Given the description of an element on the screen output the (x, y) to click on. 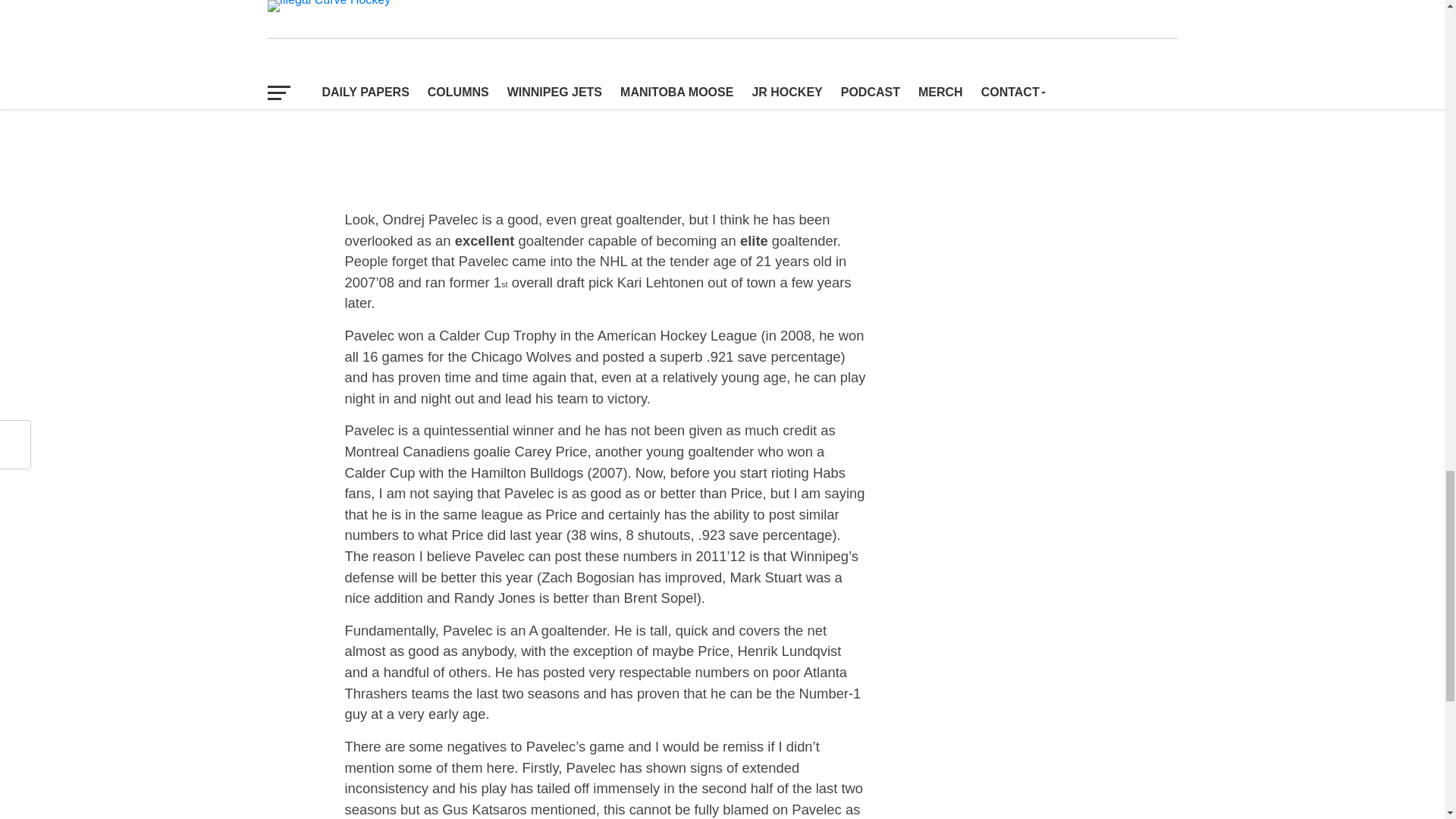
pavelec (400, 141)
